Given the description of an element on the screen output the (x, y) to click on. 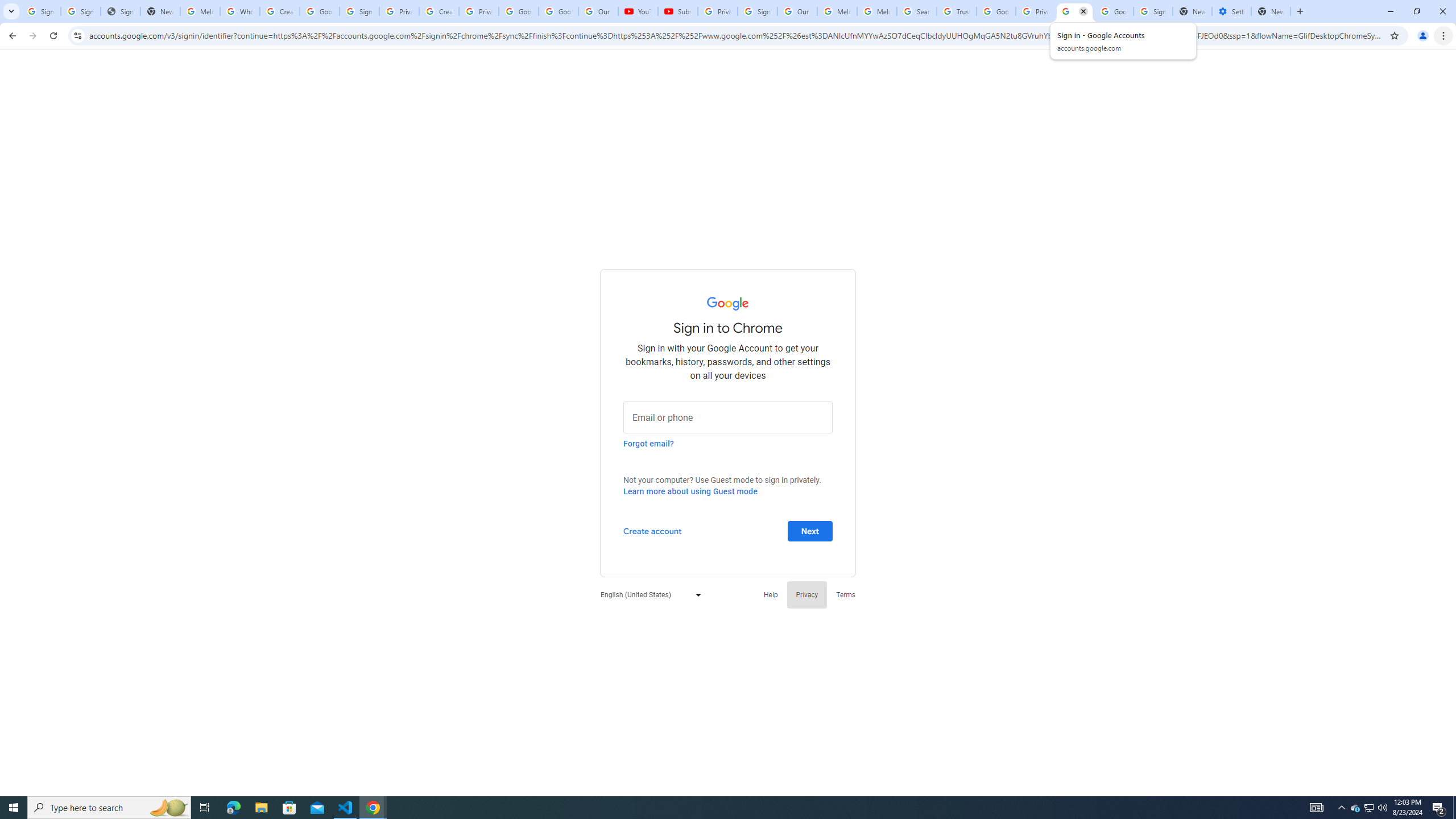
Settings - Addresses and more (1231, 11)
Email or phone (727, 416)
Create your Google Account (279, 11)
Google Cybersecurity Innovations - Google Safety Center (1113, 11)
Create account (651, 530)
Create your Google Account (438, 11)
